Given the description of an element on the screen output the (x, y) to click on. 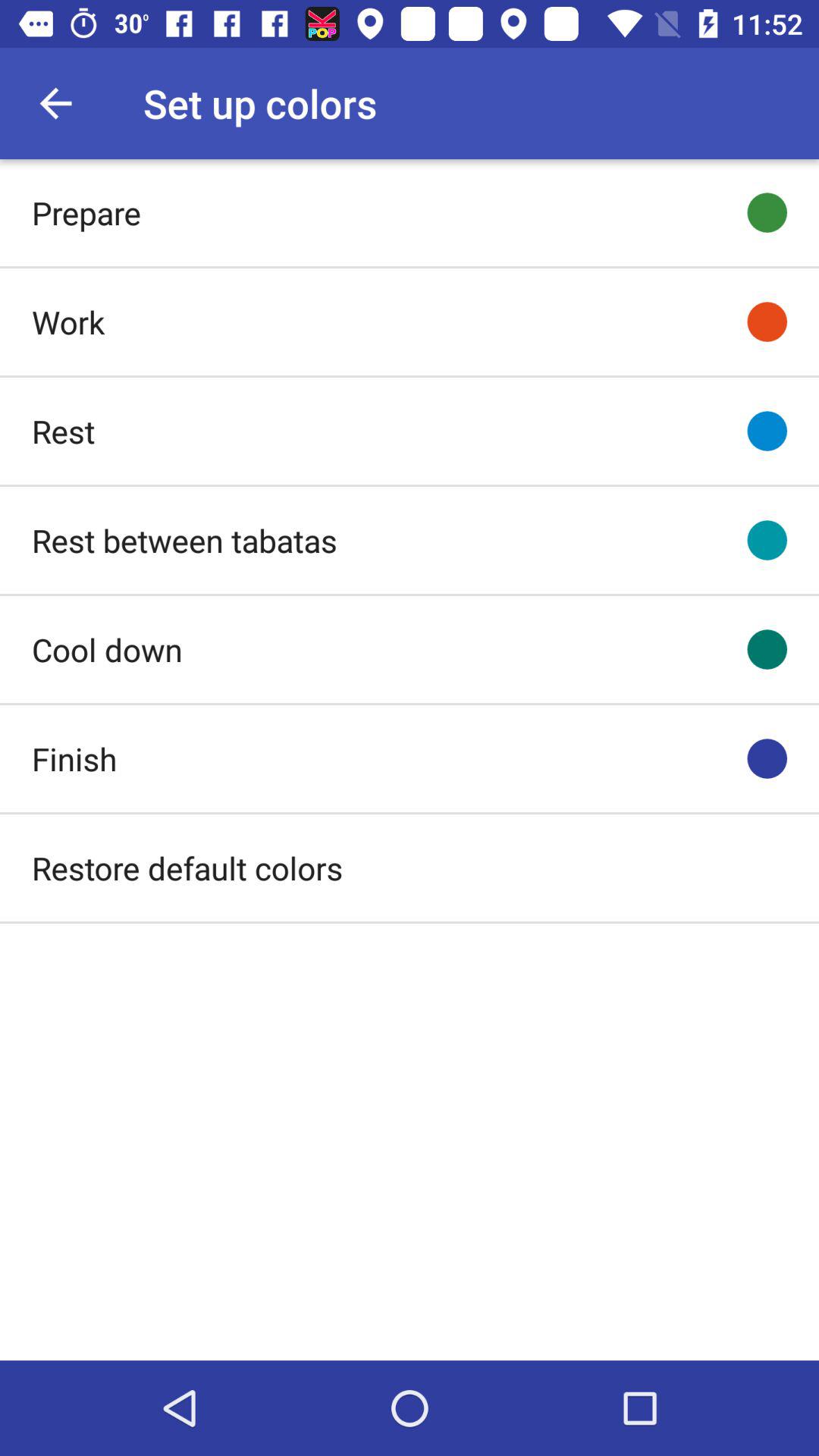
launch icon next to the set up colors item (55, 103)
